Given the description of an element on the screen output the (x, y) to click on. 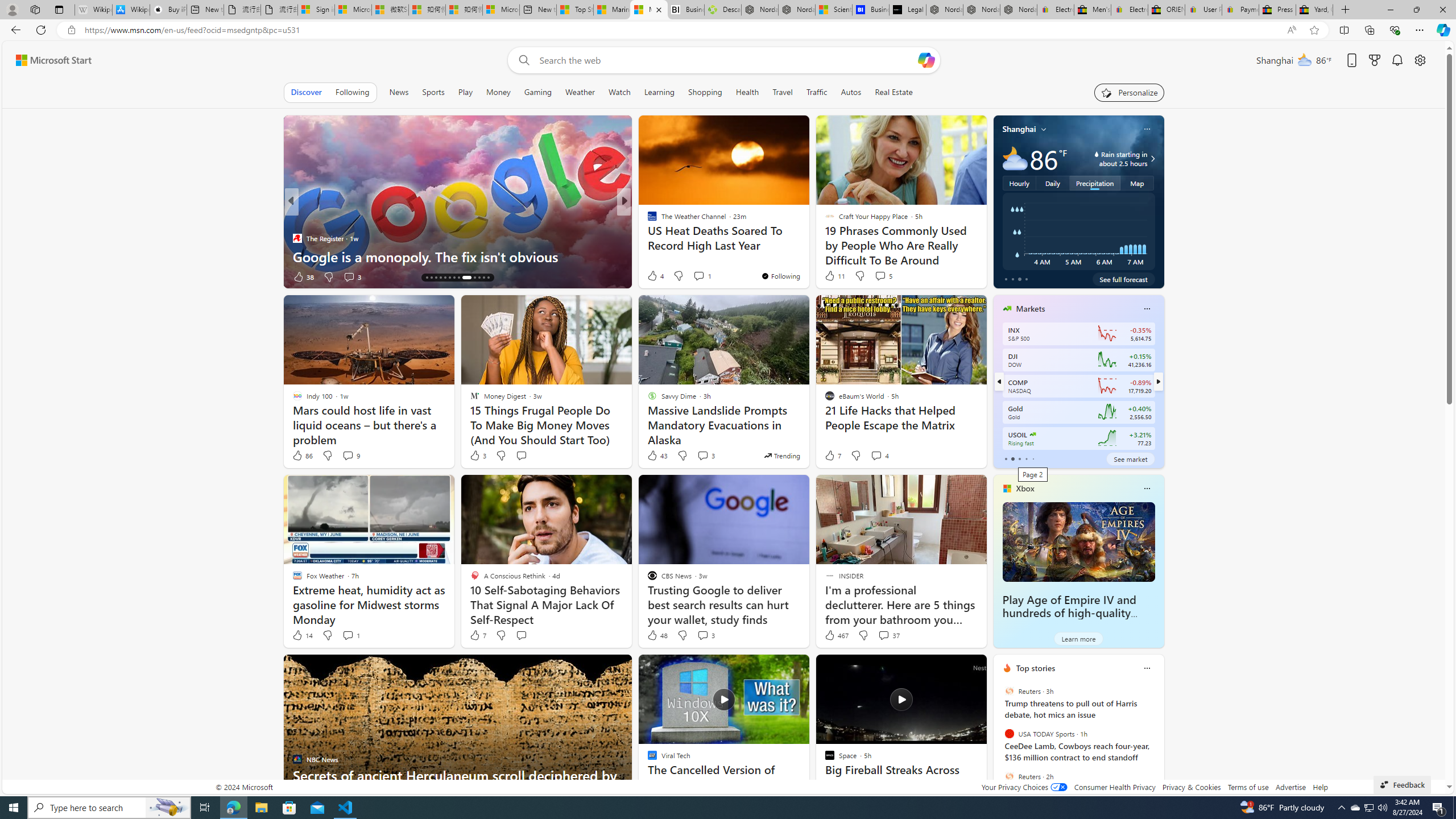
View comments 9 Comment (347, 455)
AutomationID: tab-20 (454, 277)
Reuters (1008, 775)
AutomationID: tab-22 (464, 277)
Learn more (1078, 638)
Top stories (1035, 668)
467 Like (835, 634)
AutomationID: tab-17 (440, 277)
My location (1043, 128)
